Given the description of an element on the screen output the (x, y) to click on. 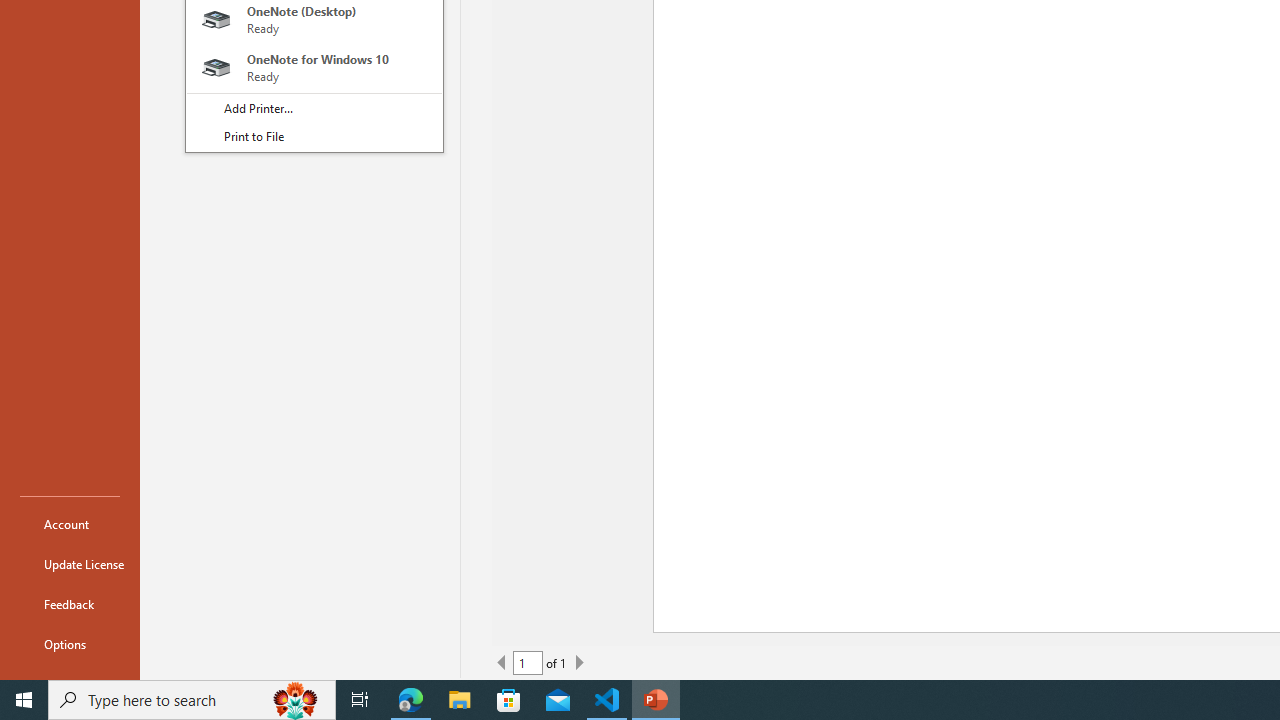
Account (69, 523)
Previous Page (502, 662)
